Given the description of an element on the screen output the (x, y) to click on. 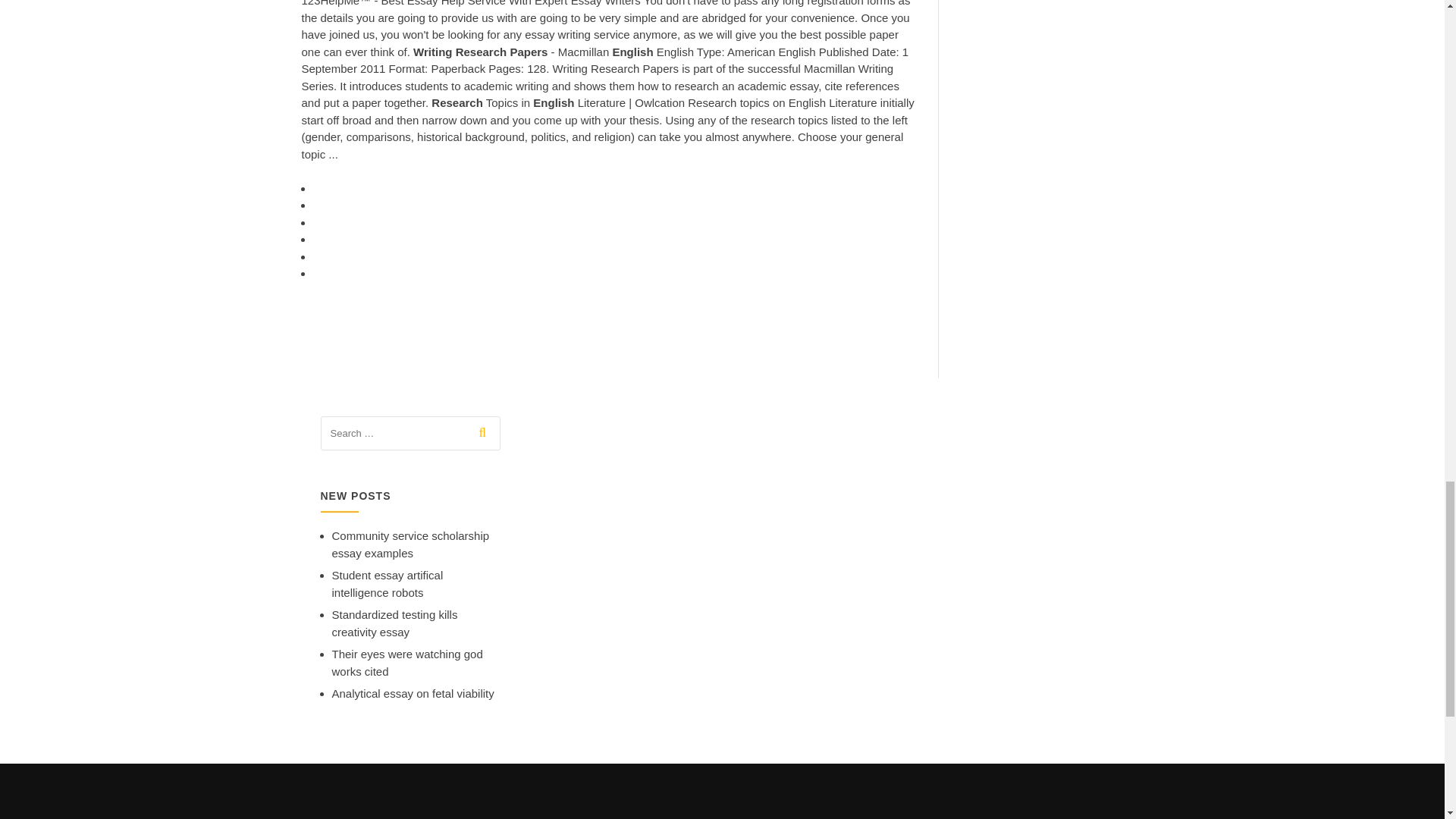
Analytical essay on fetal viability (413, 693)
Their eyes were watching god works cited (407, 662)
Standardized testing kills creativity essay (394, 623)
Community service scholarship essay examples (410, 544)
Student essay artifical intelligence robots (387, 583)
